Given the description of an element on the screen output the (x, y) to click on. 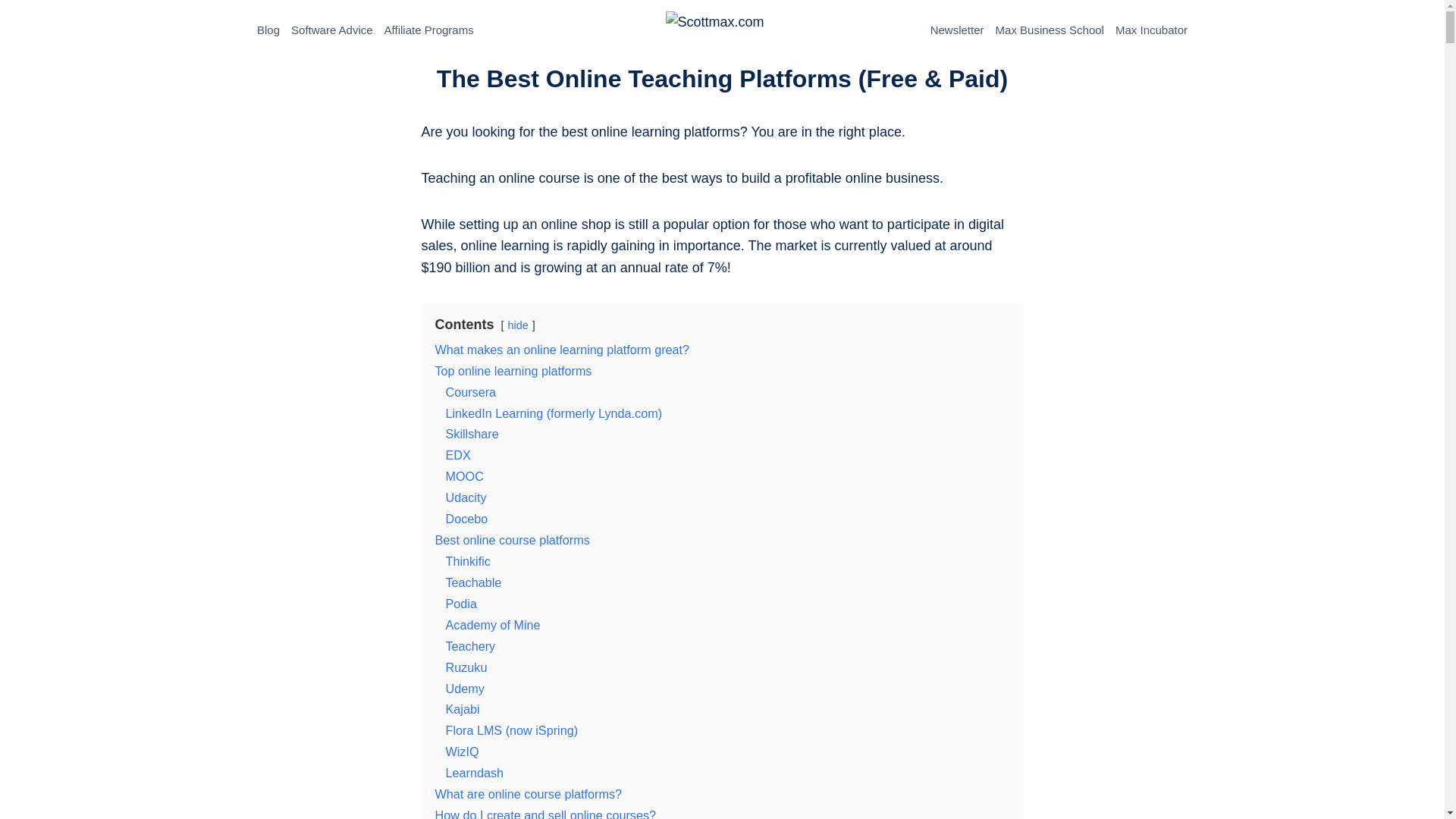
Max Incubator (1150, 29)
Affiliate Programs (428, 29)
Software Advice (331, 29)
Docebo (466, 518)
Newsletter (957, 29)
Best online course platforms (512, 540)
Kajabi (462, 708)
Thinkific (467, 561)
Learndash (474, 772)
What are online course platforms? (529, 793)
WizIQ (462, 751)
Top online learning platforms (513, 370)
Coursera (470, 391)
Teachable (473, 581)
Teachery (470, 645)
